Given the description of an element on the screen output the (x, y) to click on. 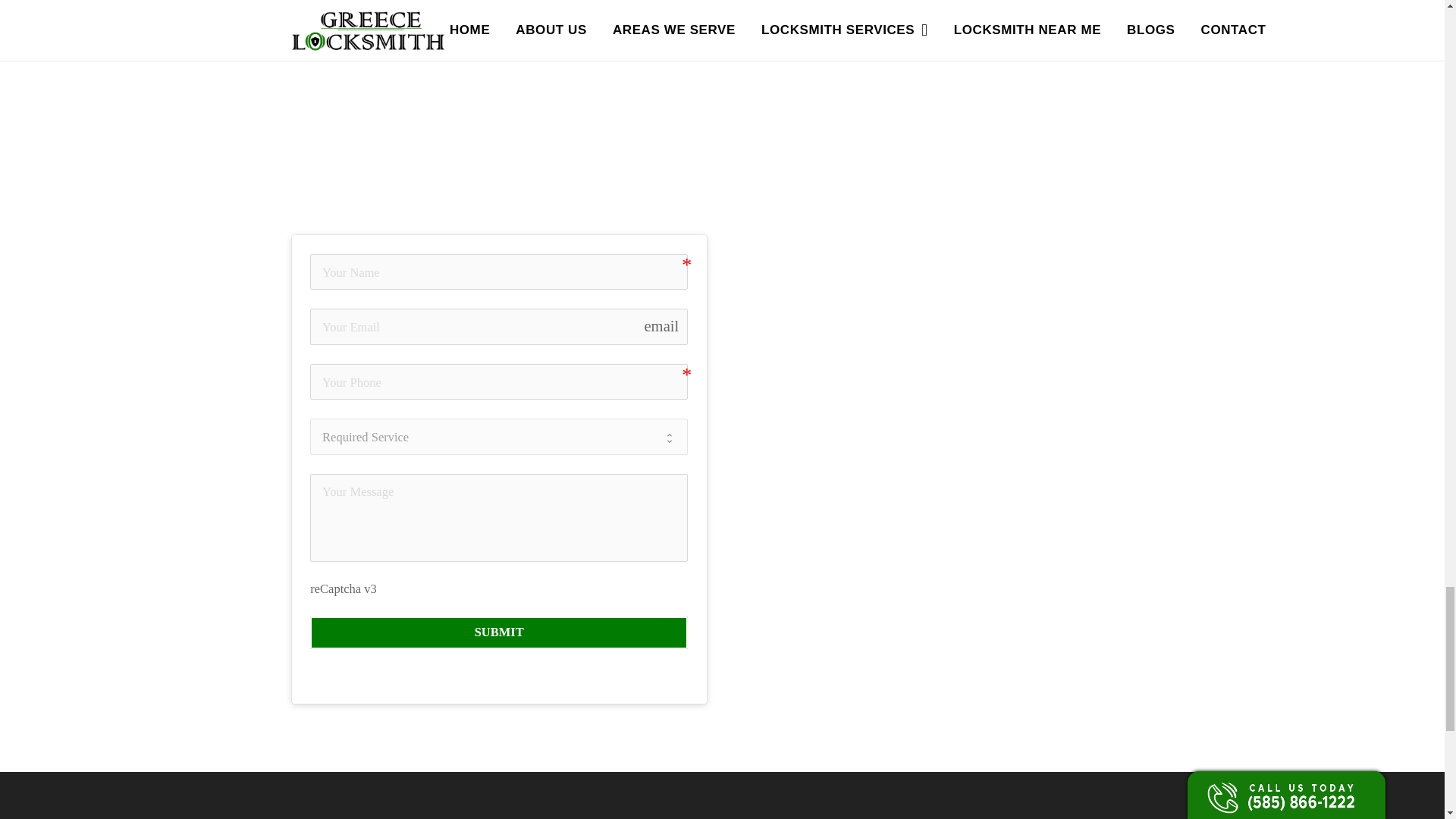
SUBMIT (498, 632)
